Given the description of an element on the screen output the (x, y) to click on. 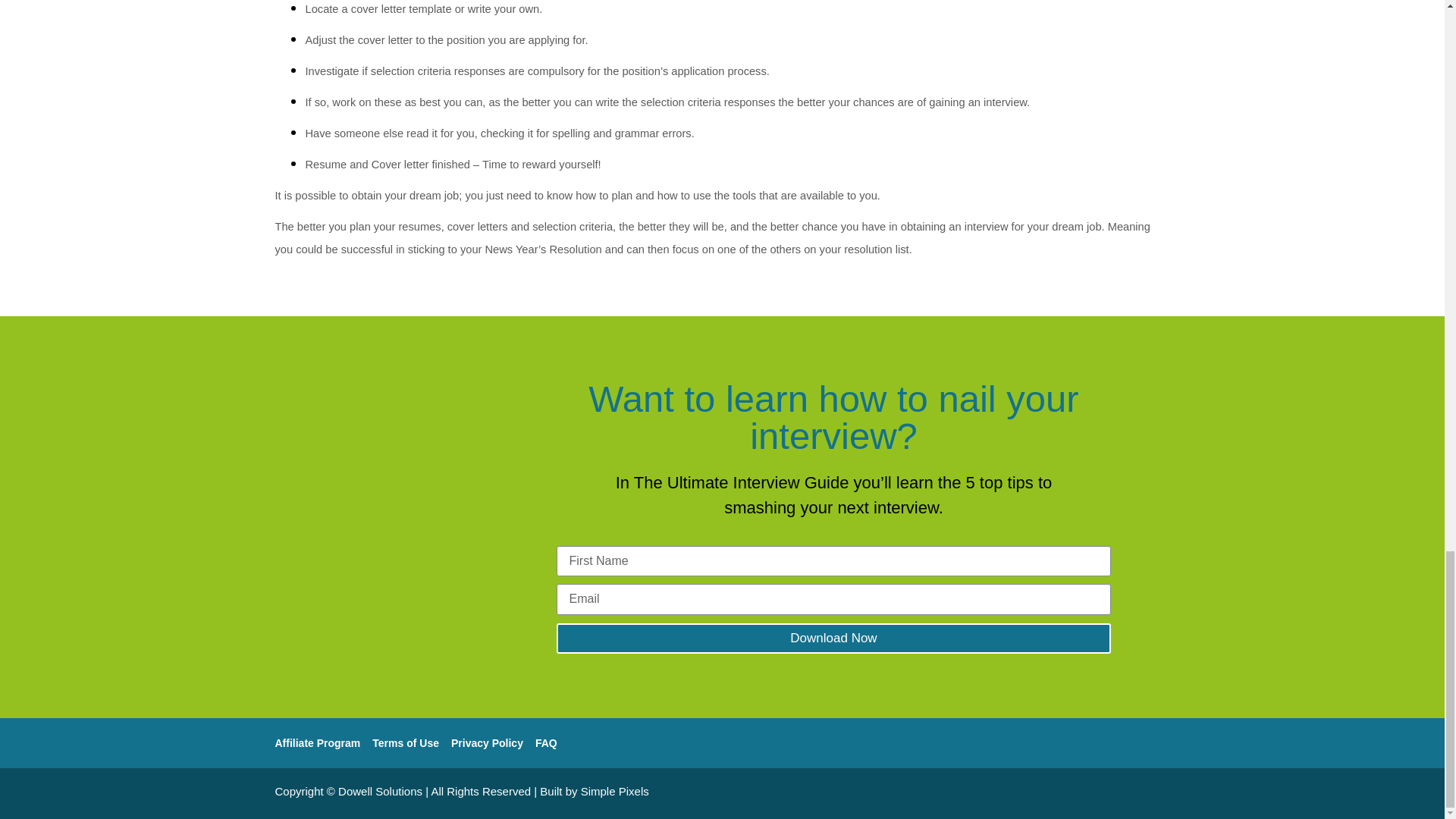
Affiliate Program (317, 742)
Download Now (834, 638)
Privacy Policy (486, 742)
Terms of Use (405, 742)
